Given the description of an element on the screen output the (x, y) to click on. 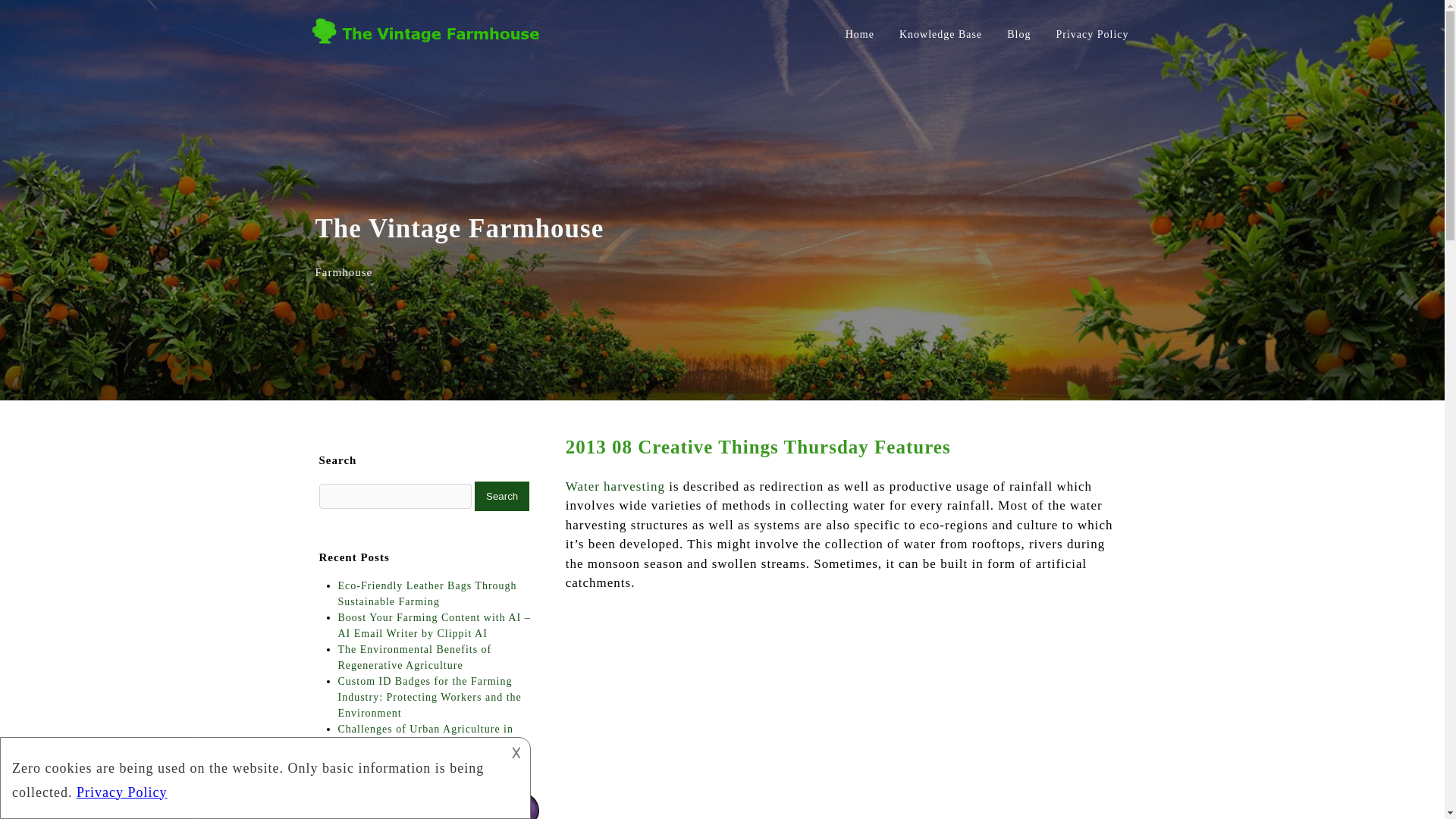
Knowledge Base (940, 33)
Eco-Friendly Leather Bags Through Sustainable Farming (426, 593)
Challenges of Urban Agriculture in New York City (425, 737)
Search (501, 496)
Blog (1018, 33)
description (252, 775)
Privacy Policy (1091, 33)
2013 08 Creative Things Thursday Features (758, 446)
Rainwater Harvesting (845, 705)
